Given the description of an element on the screen output the (x, y) to click on. 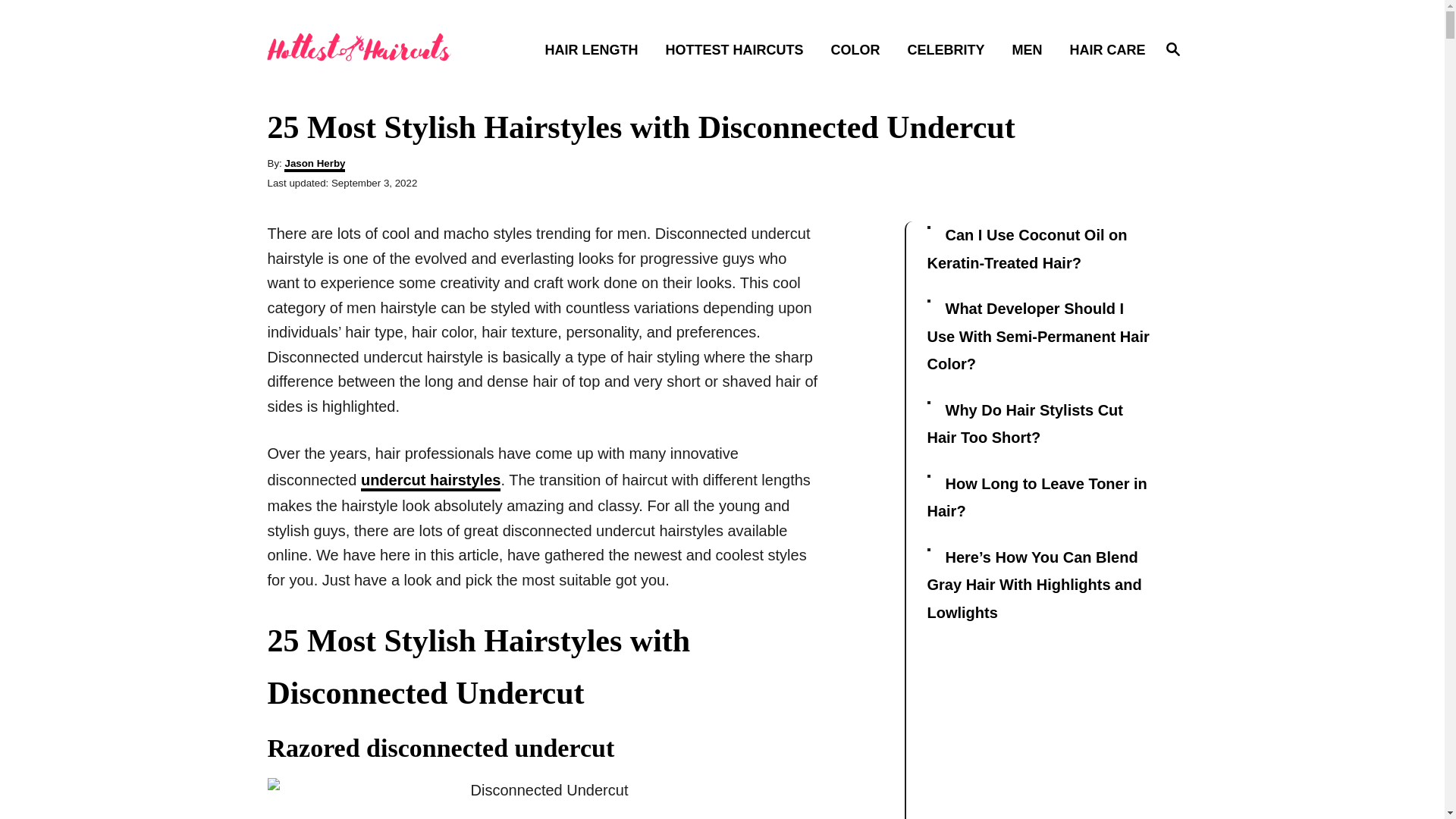
CELEBRITY (950, 49)
HAIR CARE (1101, 49)
Hottest Haircuts (371, 49)
HAIR LENGTH (1171, 49)
MEN (595, 49)
Can I Use Coconut Oil on Keratin-Treated Hair? (1031, 49)
HOTTEST HAIRCUTS (1026, 248)
Why Do Hair Stylists Cut Hair Too Short? (738, 49)
Magnifying Glass (1024, 424)
COLOR (1171, 48)
Jason Herby (859, 49)
How Long to Leave Toner in Hair? (314, 164)
undercut hairstyles (1036, 497)
What Developer Should I Use With Semi-Permanent Hair Color? (430, 481)
